Given the description of an element on the screen output the (x, y) to click on. 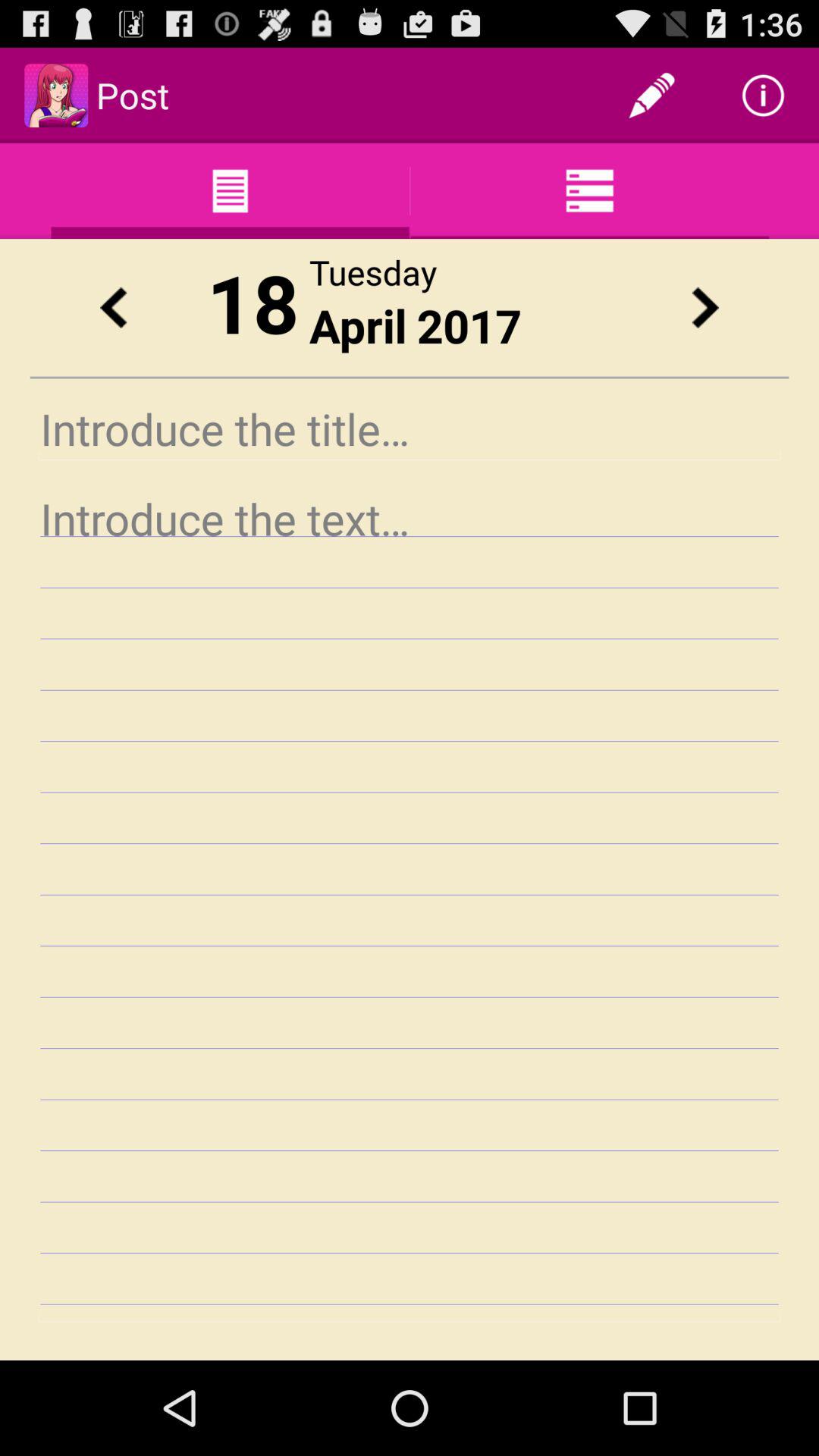
introduction the title (409, 428)
